Given the description of an element on the screen output the (x, y) to click on. 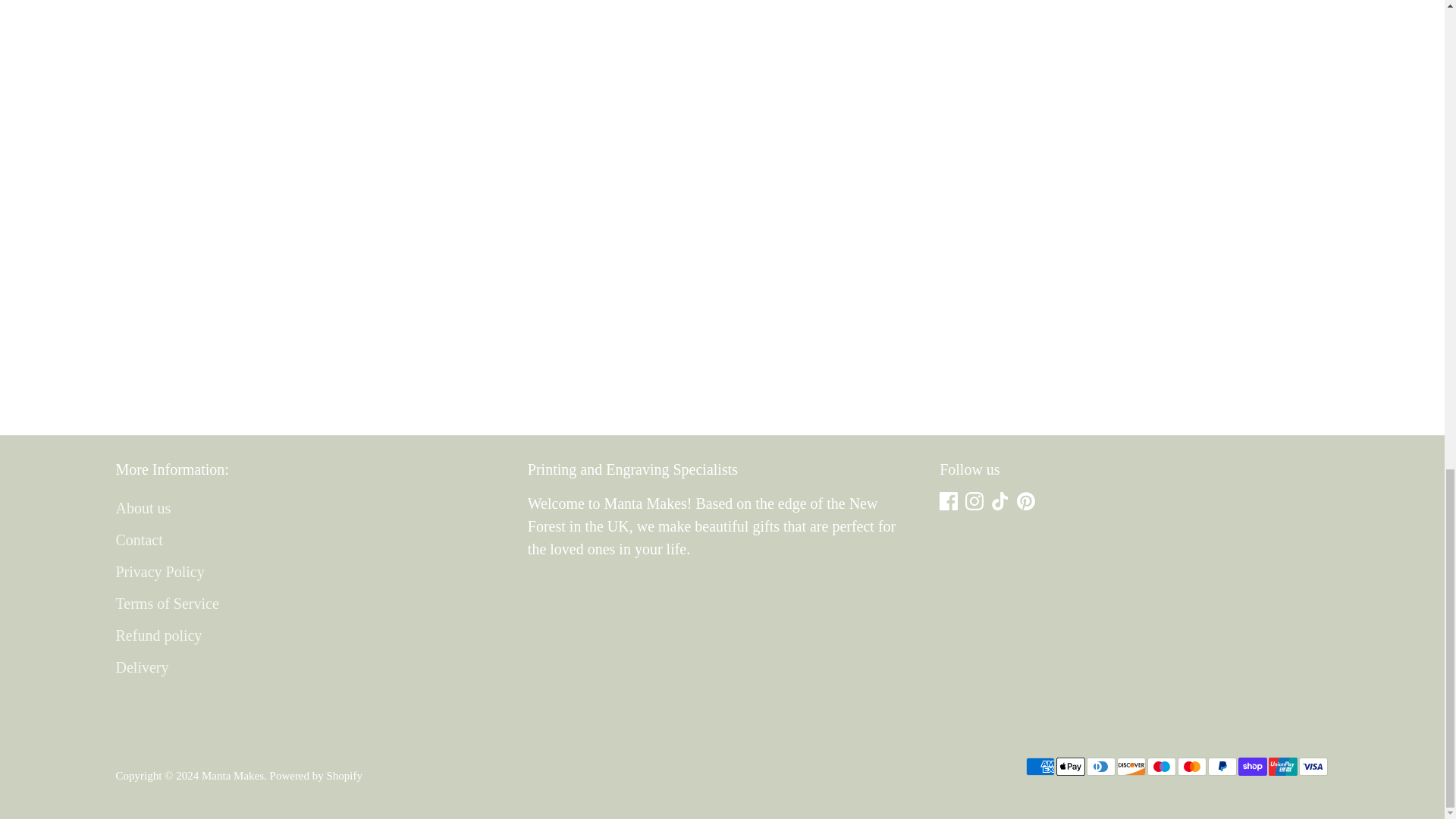
Apple Pay (1069, 766)
Discover (1130, 766)
American Express (1039, 766)
Diners Club (1100, 766)
Maestro (1160, 766)
